Given the description of an element on the screen output the (x, y) to click on. 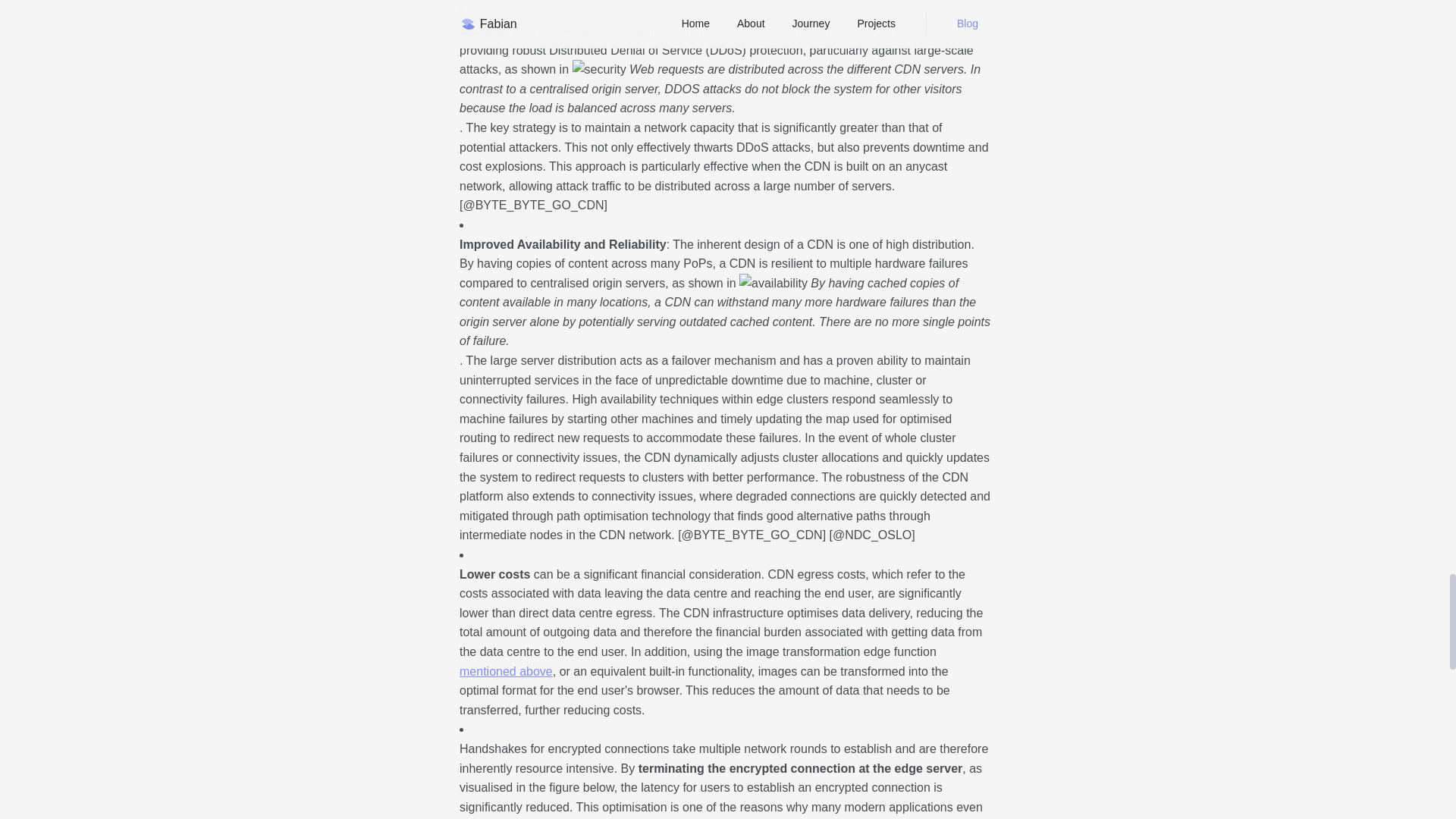
mentioned above (506, 671)
